Given the description of an element on the screen output the (x, y) to click on. 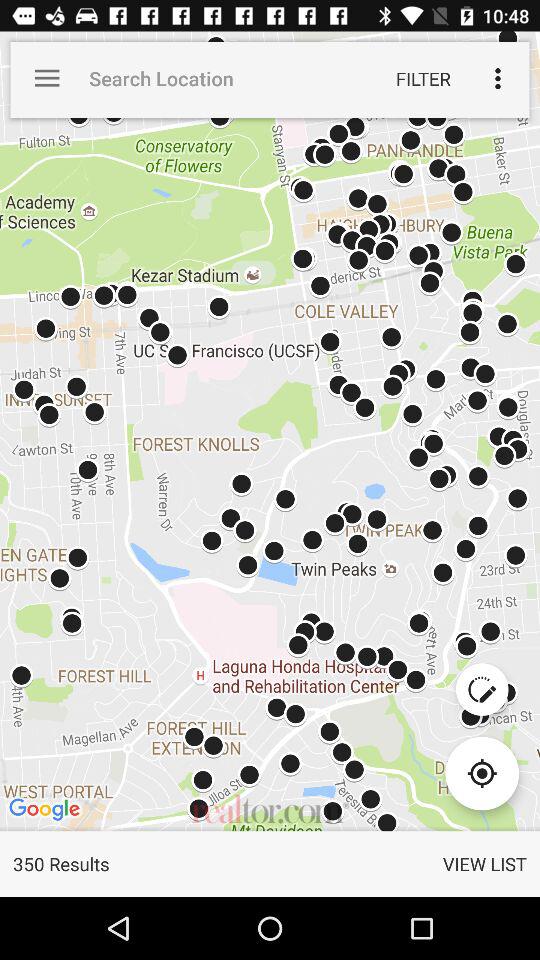
jump to filter app (423, 78)
